Given the description of an element on the screen output the (x, y) to click on. 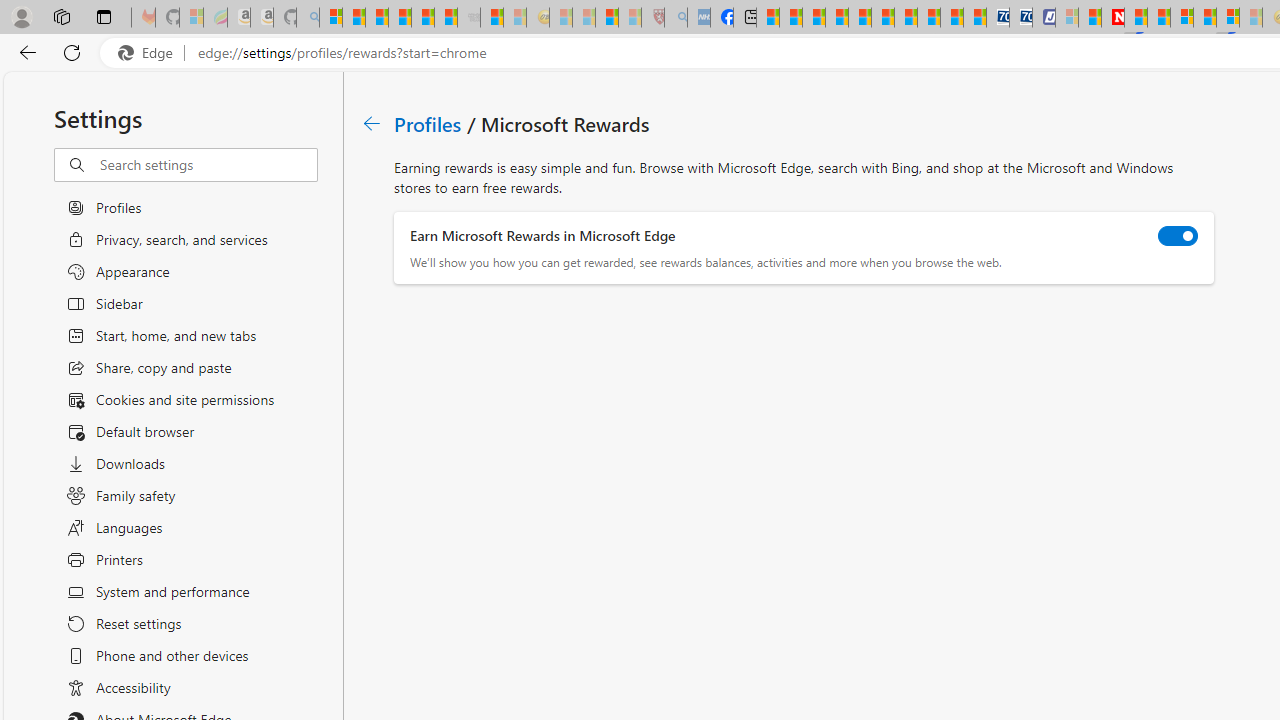
Latest Politics News & Archive | Newsweek.com (1112, 17)
Profiles (429, 123)
Robert H. Shmerling, MD - Harvard Health - Sleeping (653, 17)
